Given the description of an element on the screen output the (x, y) to click on. 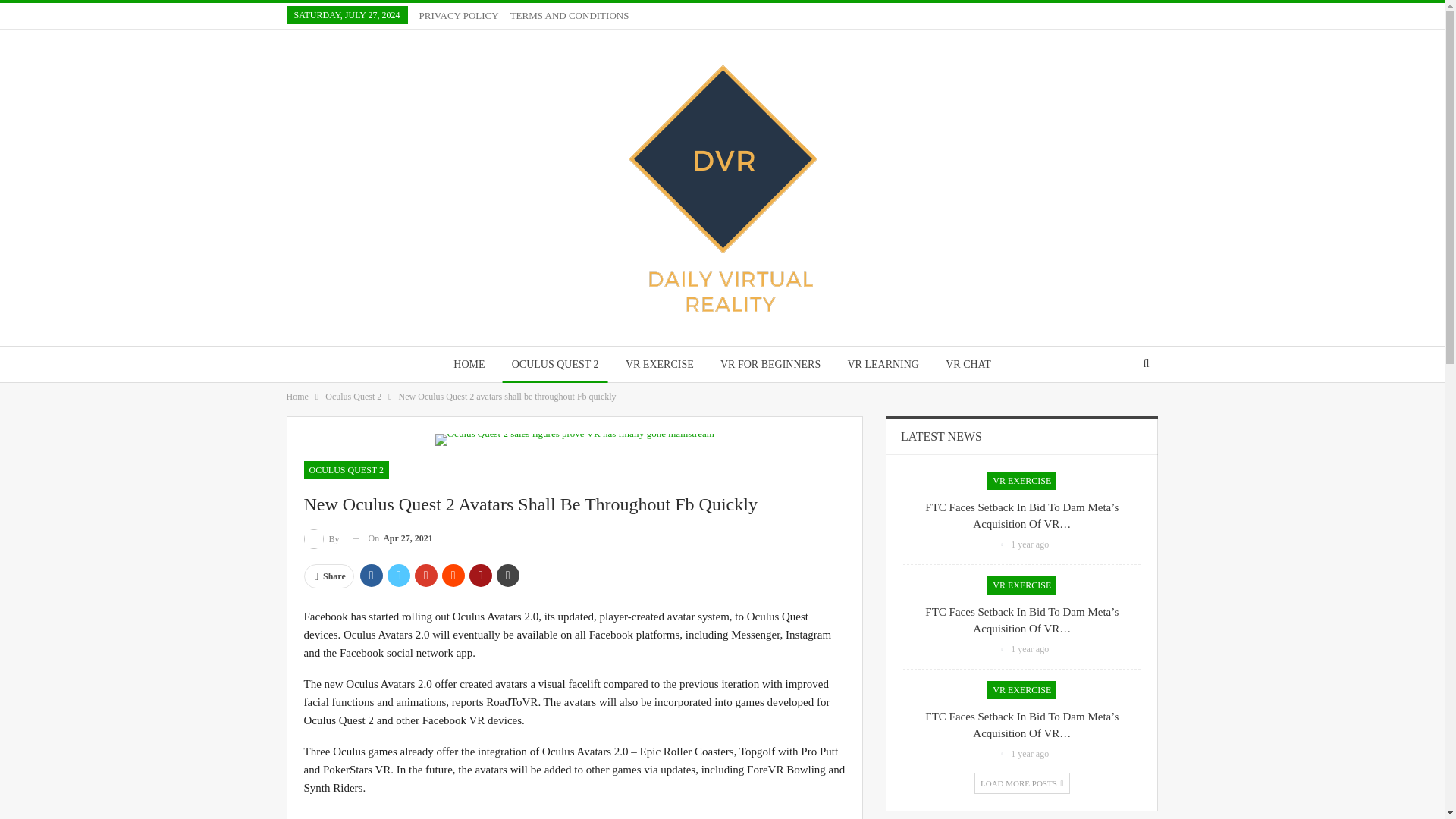
VR CHAT (968, 364)
TERMS AND CONDITIONS (569, 15)
By (321, 538)
OCULUS QUEST 2 (555, 364)
VR LEARNING (883, 364)
PRIVACY POLICY (459, 15)
OCULUS QUEST 2 (345, 470)
Browse Author Articles (321, 538)
Browse Author Articles (1002, 648)
Load More Posts (1022, 783)
Oculus Quest 2 (352, 396)
VR EXERCISE (659, 364)
Browse Author Articles (1002, 543)
VR FOR BEGINNERS (770, 364)
HOME (468, 364)
